Given the description of an element on the screen output the (x, y) to click on. 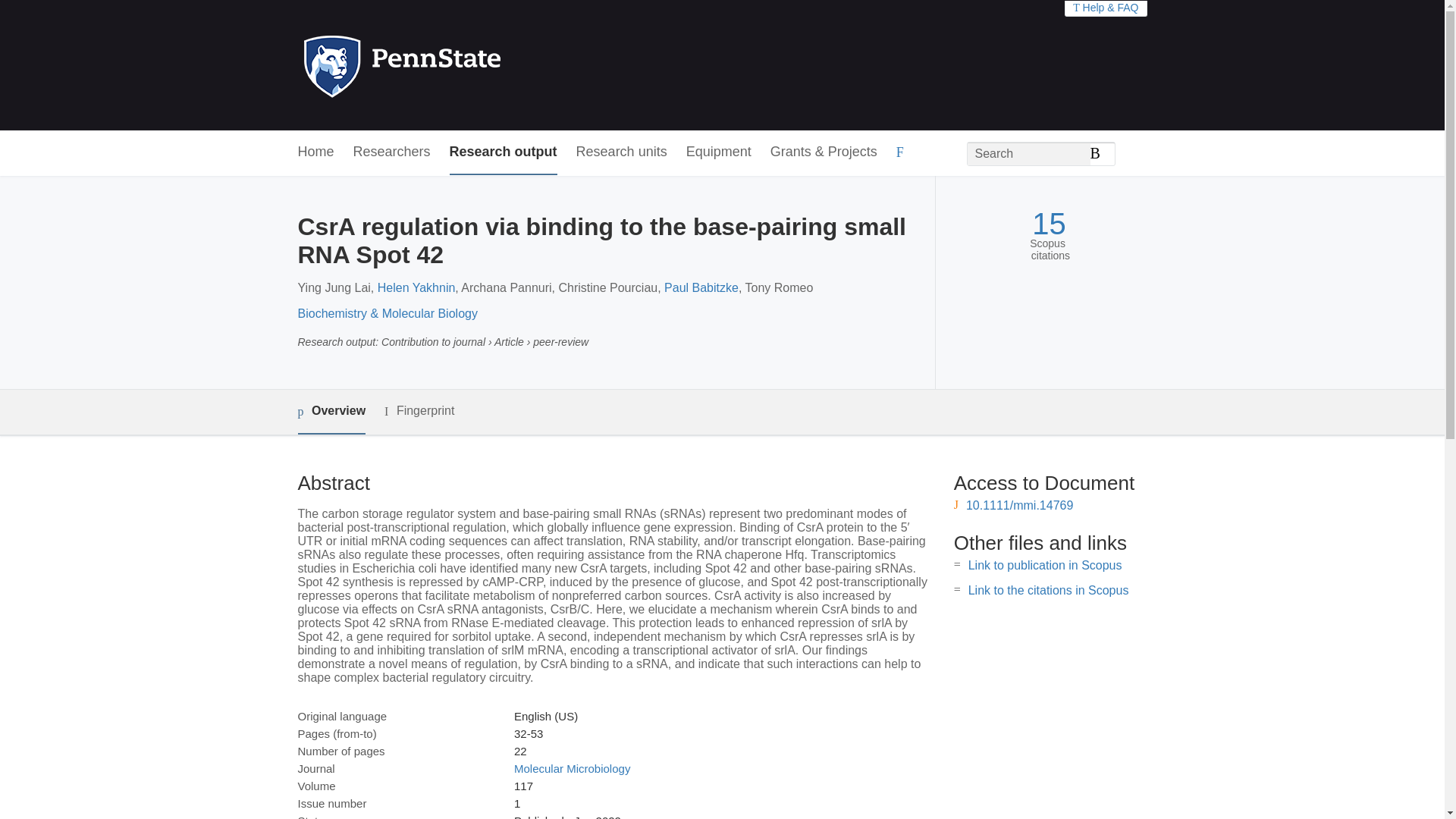
Research units (621, 152)
Overview (331, 411)
Penn State Home (467, 65)
15 (1048, 223)
Molecular Microbiology (571, 768)
Researchers (391, 152)
Fingerprint (419, 411)
Link to publication in Scopus (1045, 564)
Research output (503, 152)
Link to the citations in Scopus (1048, 590)
Paul Babitzke (700, 287)
Helen Yakhnin (416, 287)
Equipment (718, 152)
